Given the description of an element on the screen output the (x, y) to click on. 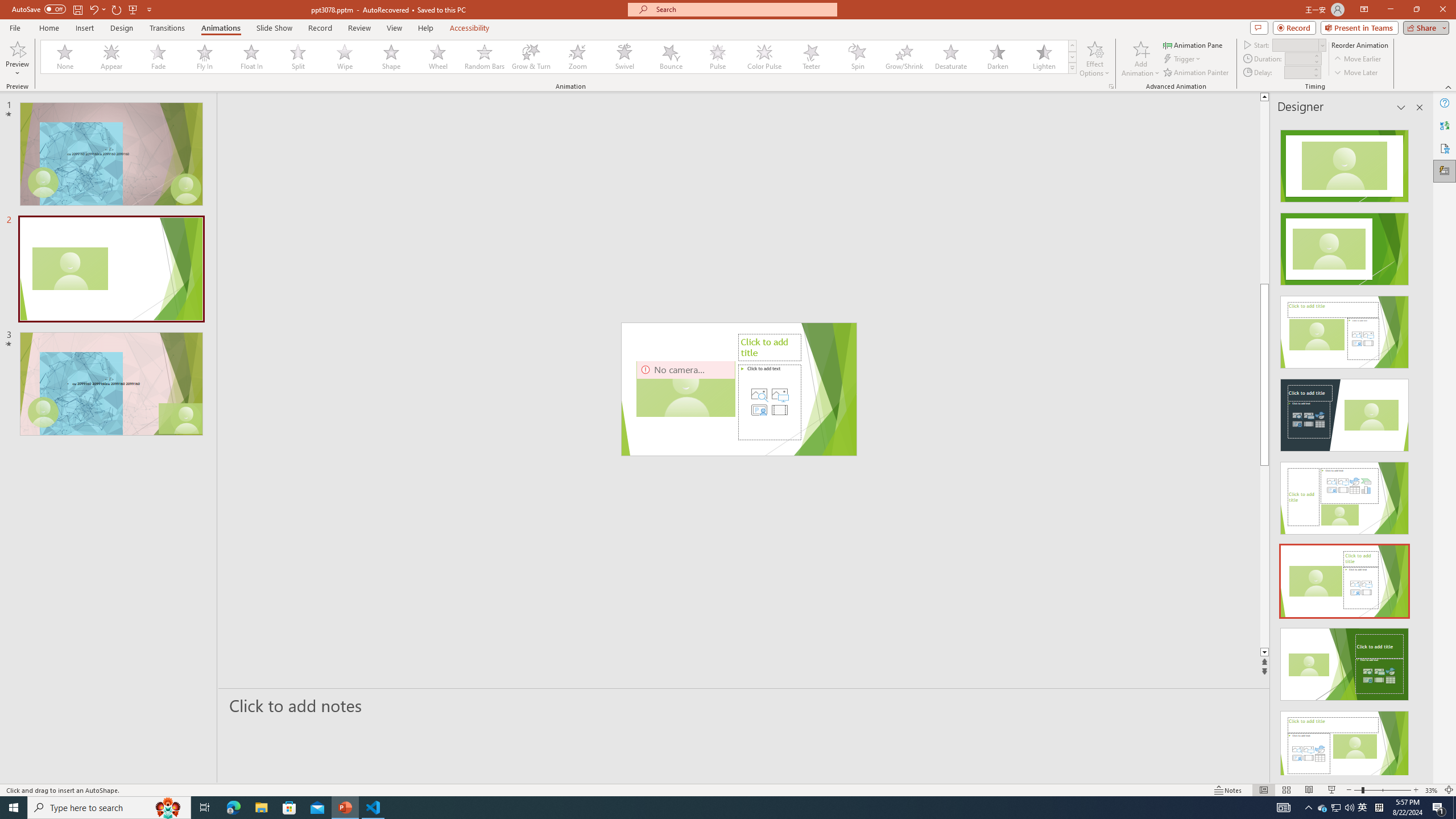
Trigger (1182, 58)
Spin (857, 56)
Animation Painter (1196, 72)
Appear (111, 56)
Zoom 33% (1431, 790)
Grow & Turn (531, 56)
